Given the description of an element on the screen output the (x, y) to click on. 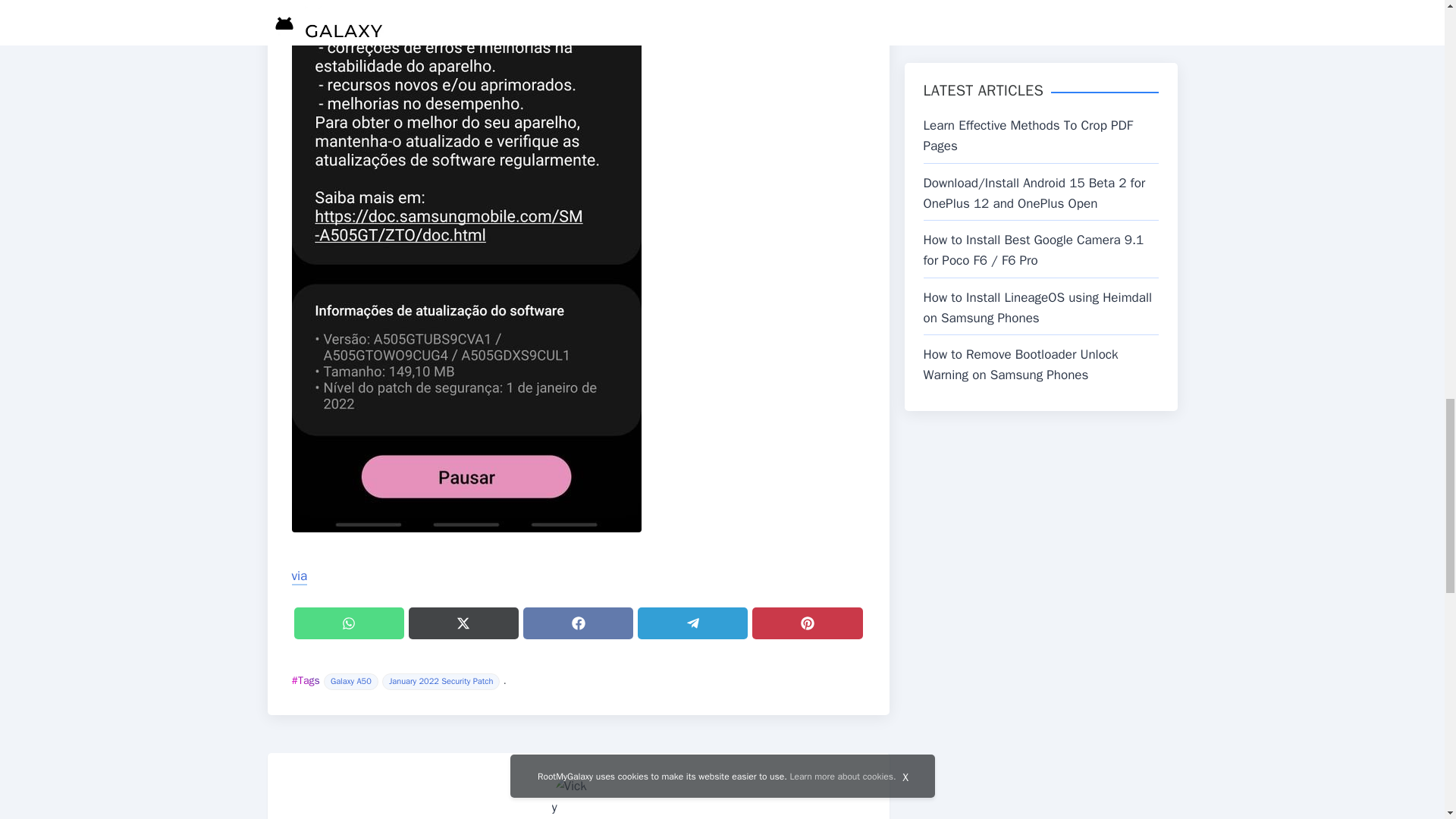
Share on Pinterest (806, 623)
Galaxy A50 (350, 681)
Share on Telegram (692, 623)
via (299, 576)
Share on WhatsApp (349, 623)
Share on Facebook (577, 623)
January 2022 Security Patch (440, 681)
